Given the description of an element on the screen output the (x, y) to click on. 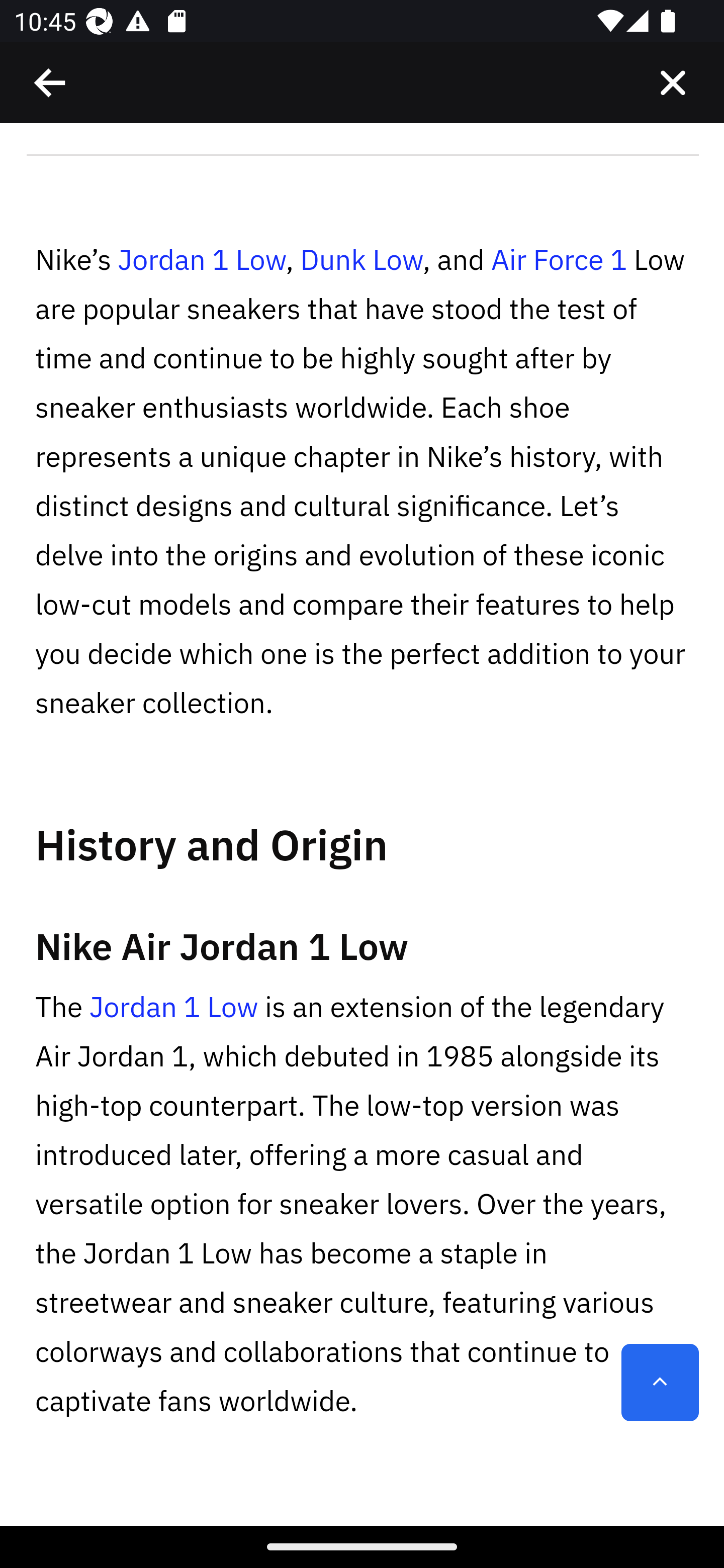
 (50, 83)
 (672, 83)
Jordan 1 Low (200, 260)
Dunk Low (361, 260)
Air Force 1 (558, 260)
Jordan 1 Low (173, 1007)
Scroll to top  (659, 1382)
